Given the description of an element on the screen output the (x, y) to click on. 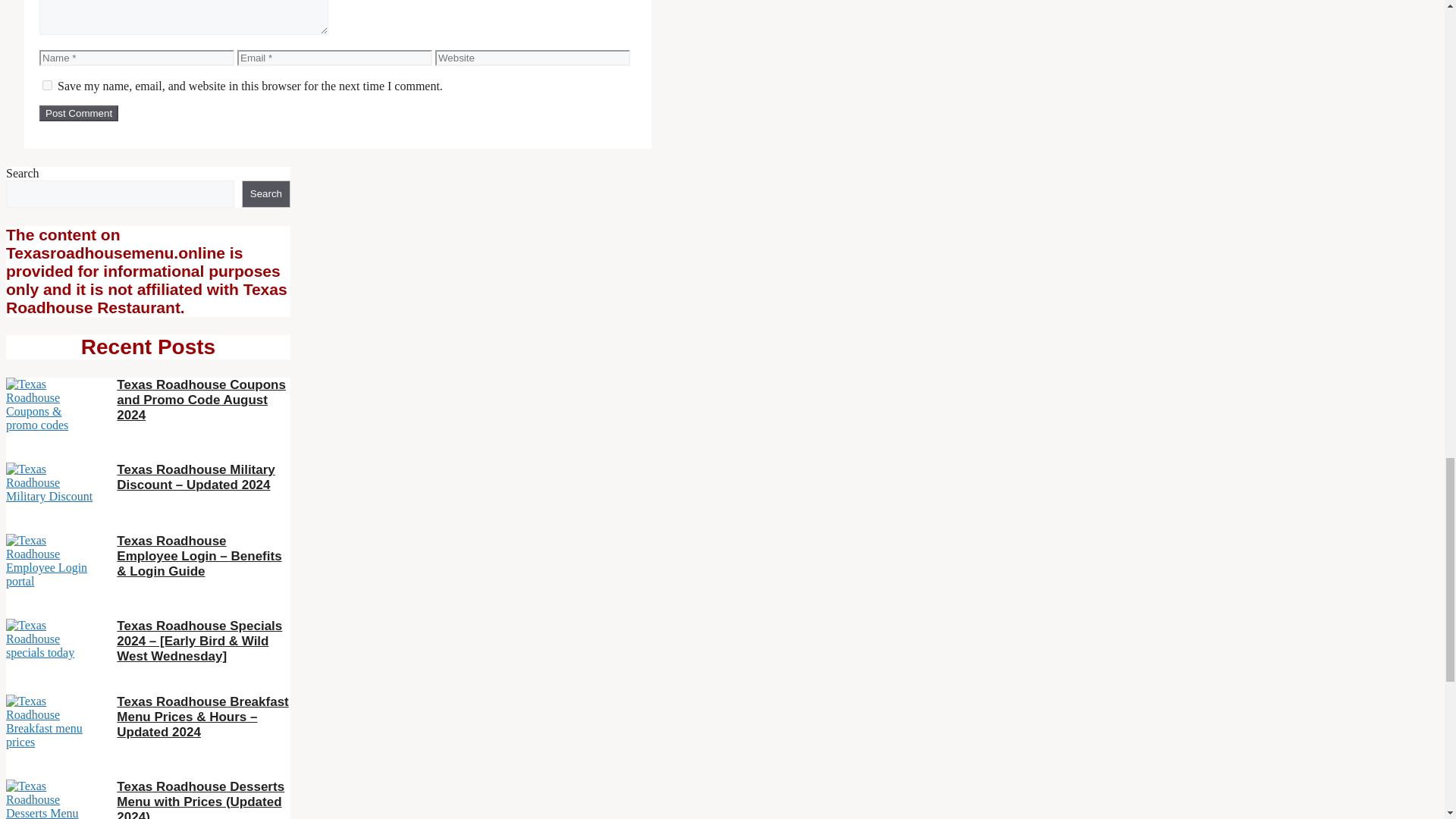
Texas Roadhouse Coupons and Promo Code August 2024 (200, 399)
Post Comment (78, 113)
yes (47, 85)
Post Comment (78, 113)
Search (265, 194)
